Given the description of an element on the screen output the (x, y) to click on. 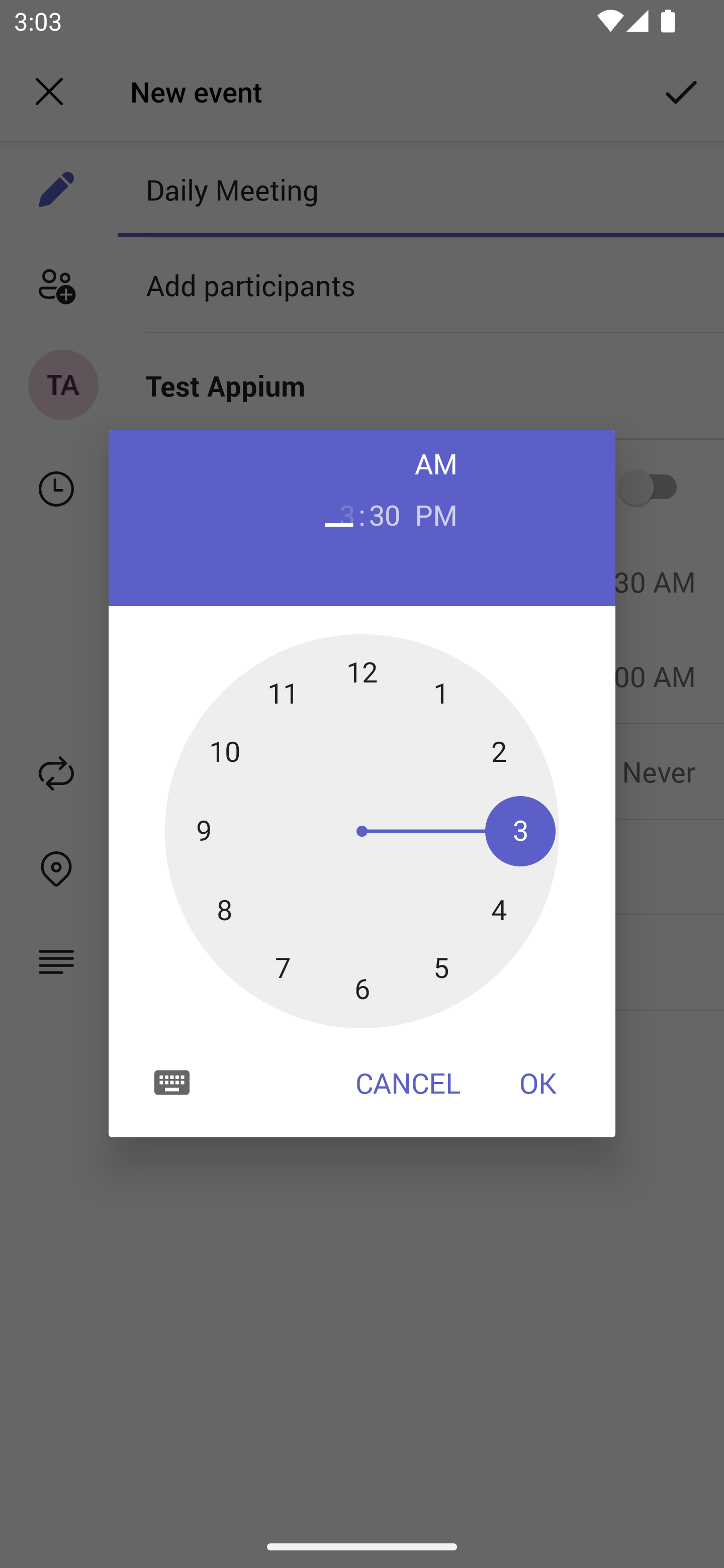
AM (435, 463)
PM (435, 514)
3 (338, 514)
30 (384, 514)
CANCEL (407, 1082)
OK (537, 1082)
Switch to text input mode for the time input. (171, 1081)
